Given the description of an element on the screen output the (x, y) to click on. 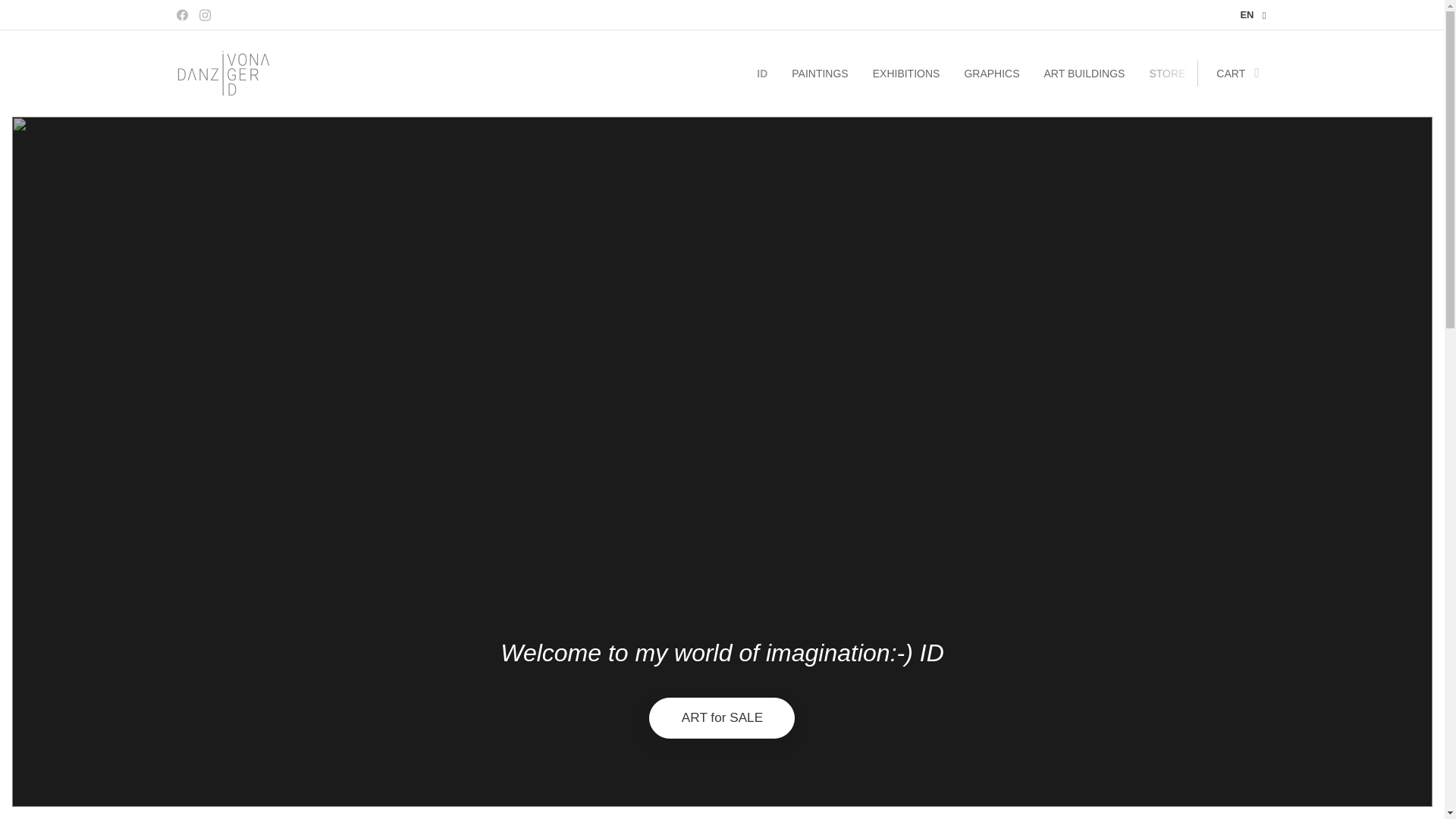
GRAPHICS (991, 73)
EXHIBITIONS (906, 73)
CART (1232, 73)
ART BUILDINGS (1084, 73)
ART for SALE (721, 717)
PAINTINGS (819, 73)
STORE (1166, 73)
